Given the description of an element on the screen output the (x, y) to click on. 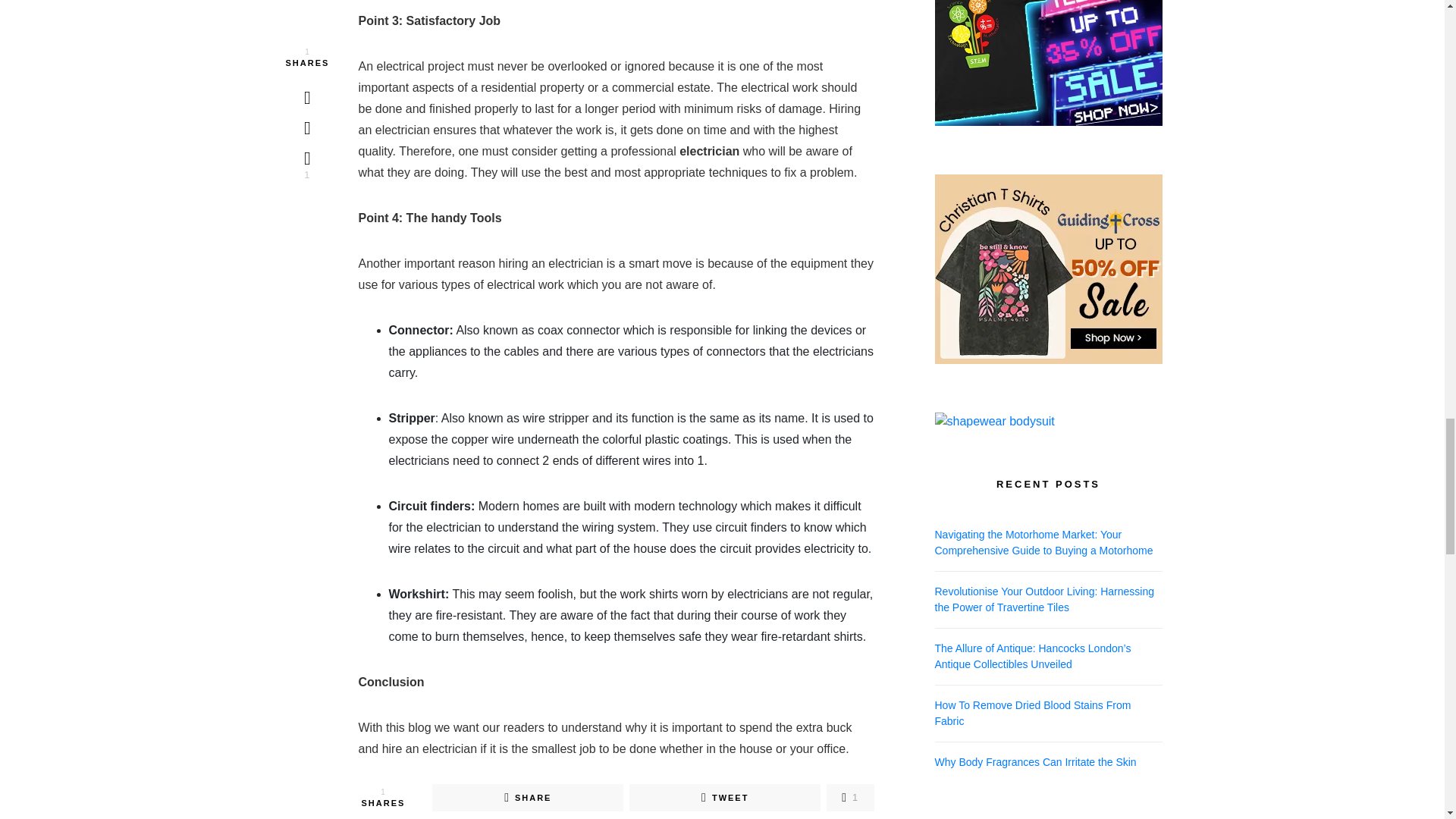
1 (850, 797)
SHARE (527, 797)
TWEET (724, 797)
